Given the description of an element on the screen output the (x, y) to click on. 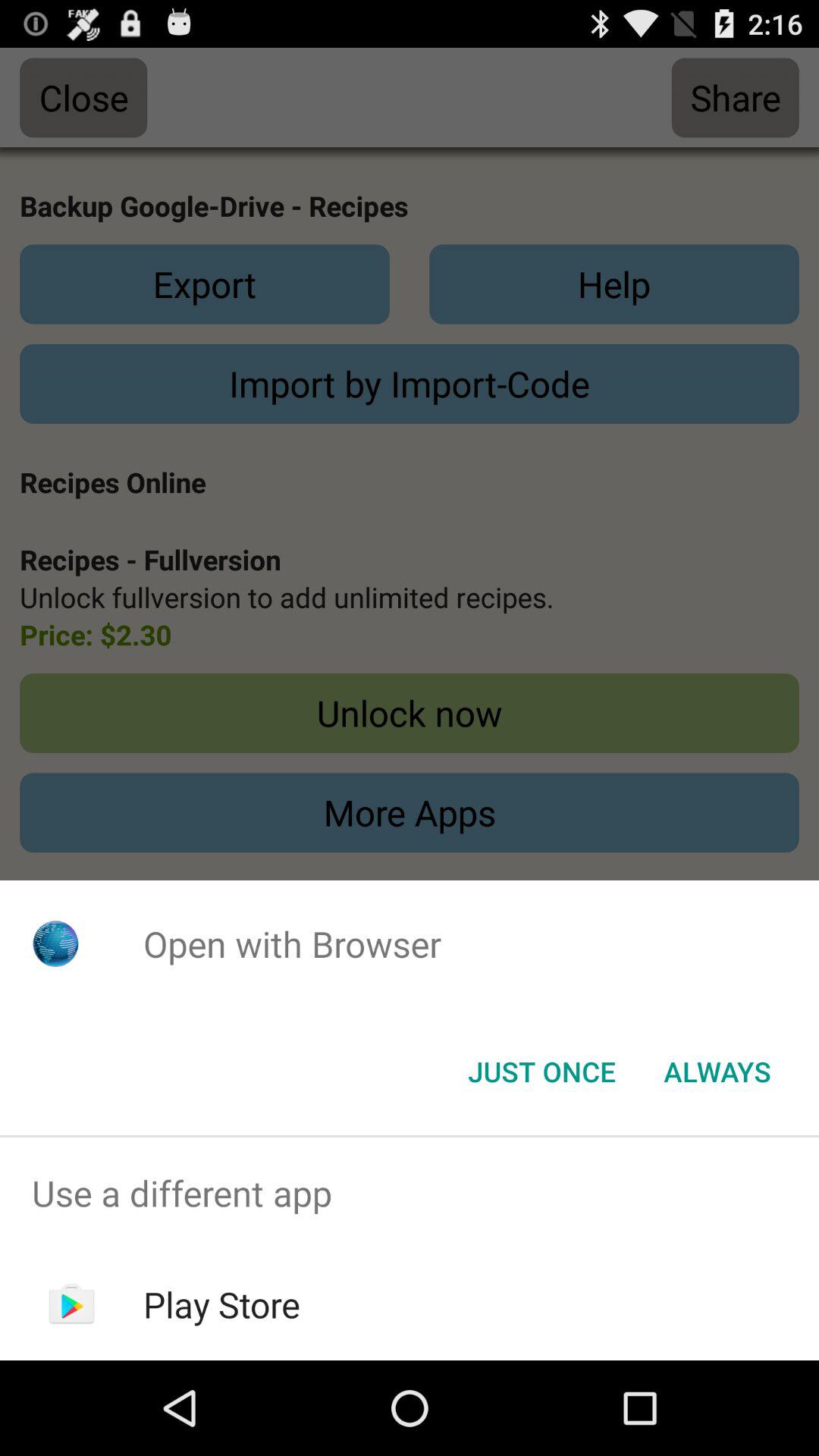
open button next to the just once item (717, 1071)
